Given the description of an element on the screen output the (x, y) to click on. 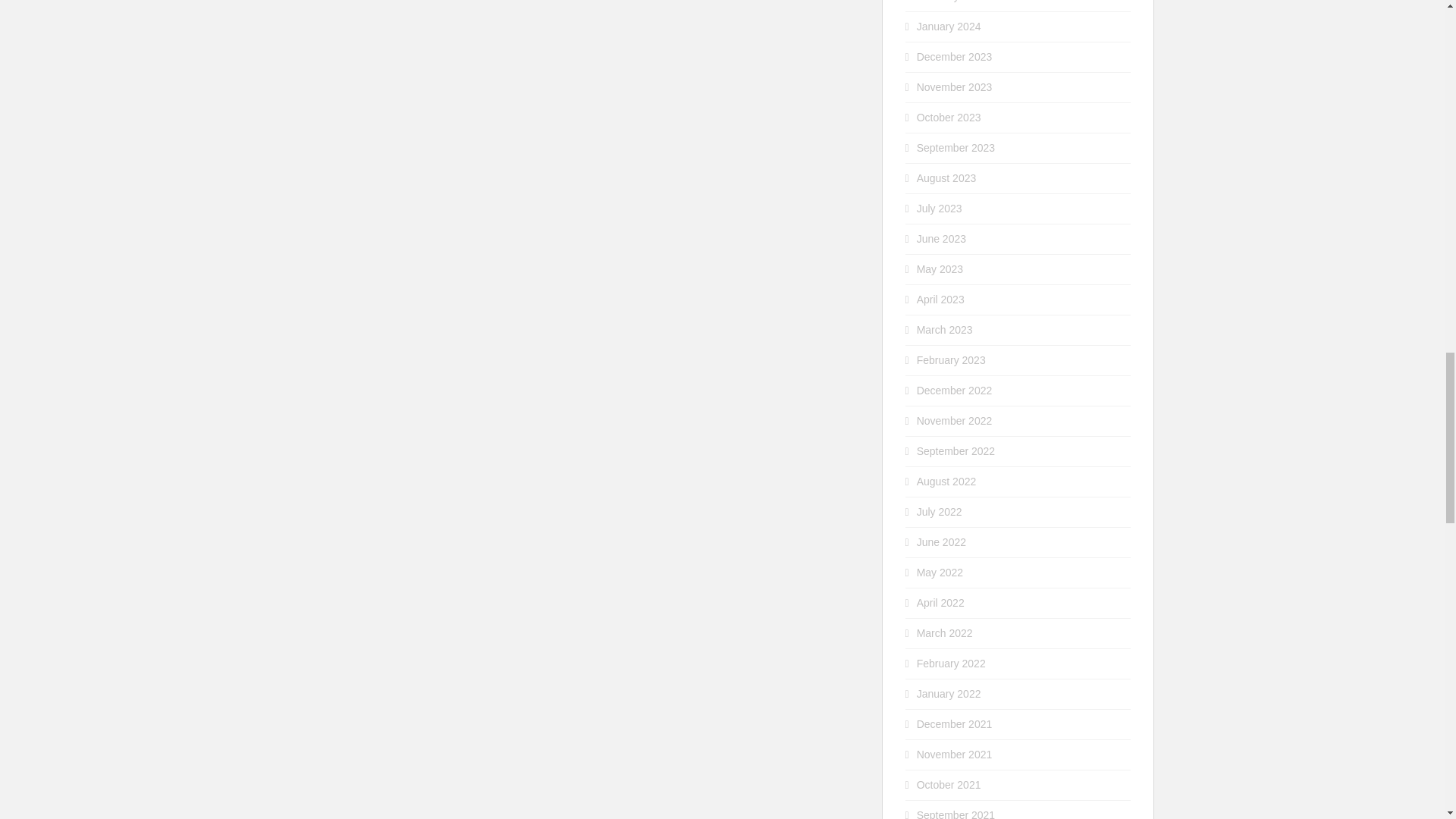
November 2023 (954, 87)
January 2024 (949, 26)
February 2024 (951, 1)
December 2023 (954, 56)
